Given the description of an element on the screen output the (x, y) to click on. 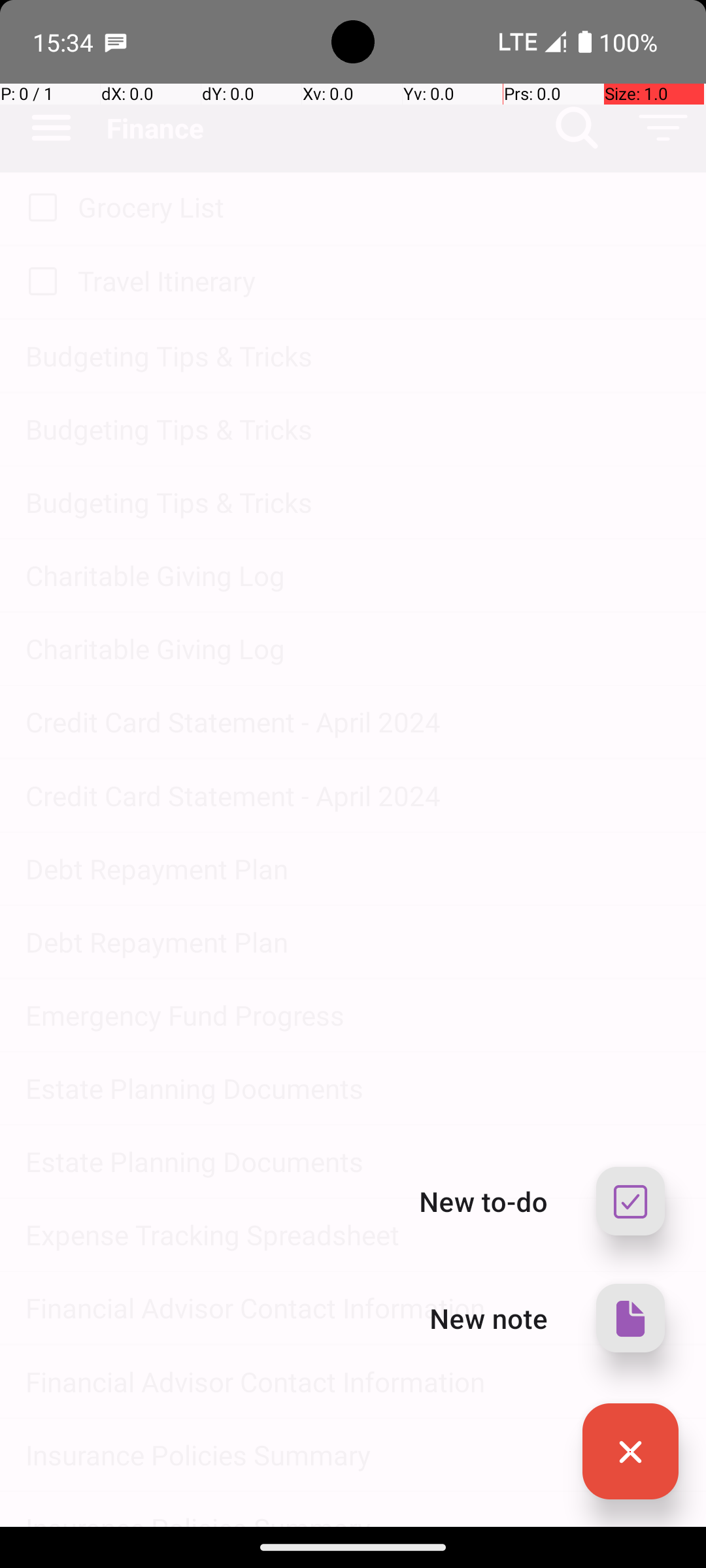
New to-do Element type: android.widget.Button (483, 1201)
New note Element type: android.widget.Button (488, 1317)
Add new, expanded Element type: android.widget.Button (630, 1451)
 Element type: android.widget.TextView (630, 1317)
 Element type: android.widget.TextView (630, 1450)
to-do: Grocery List Element type: android.widget.CheckBox (38, 208)
Grocery List Element type: android.widget.TextView (378, 206)
to-do: Travel Itinerary Element type: android.widget.CheckBox (38, 282)
Travel Itinerary Element type: android.widget.TextView (378, 280)
Budgeting Tips & Tricks Element type: android.widget.TextView (352, 355)
Charitable Giving Log Element type: android.widget.TextView (352, 574)
Credit Card Statement - April 2024 Element type: android.widget.TextView (352, 721)
Debt Repayment Plan Element type: android.widget.TextView (352, 868)
Emergency Fund Progress Element type: android.widget.TextView (352, 1014)
Estate Planning Documents Element type: android.widget.TextView (352, 1087)
Expense Tracking Spreadsheet Element type: android.widget.TextView (352, 1234)
Insurance Policies Summary Element type: android.widget.TextView (352, 1454)
